Given the description of an element on the screen output the (x, y) to click on. 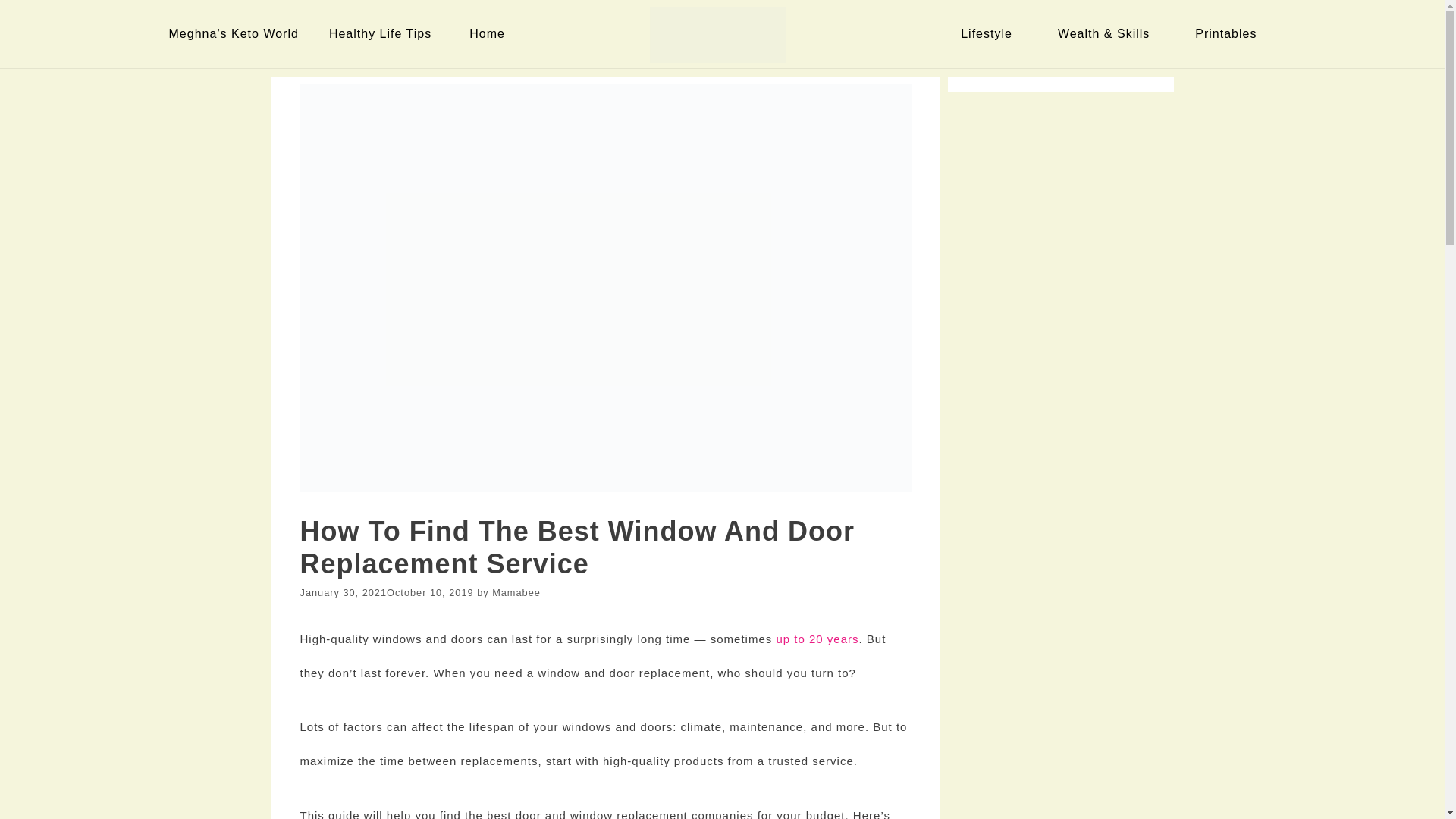
View all posts by Mamabee (516, 592)
Home (490, 33)
Lifestyle (989, 33)
Healthy Life Tips (383, 33)
